Given the description of an element on the screen output the (x, y) to click on. 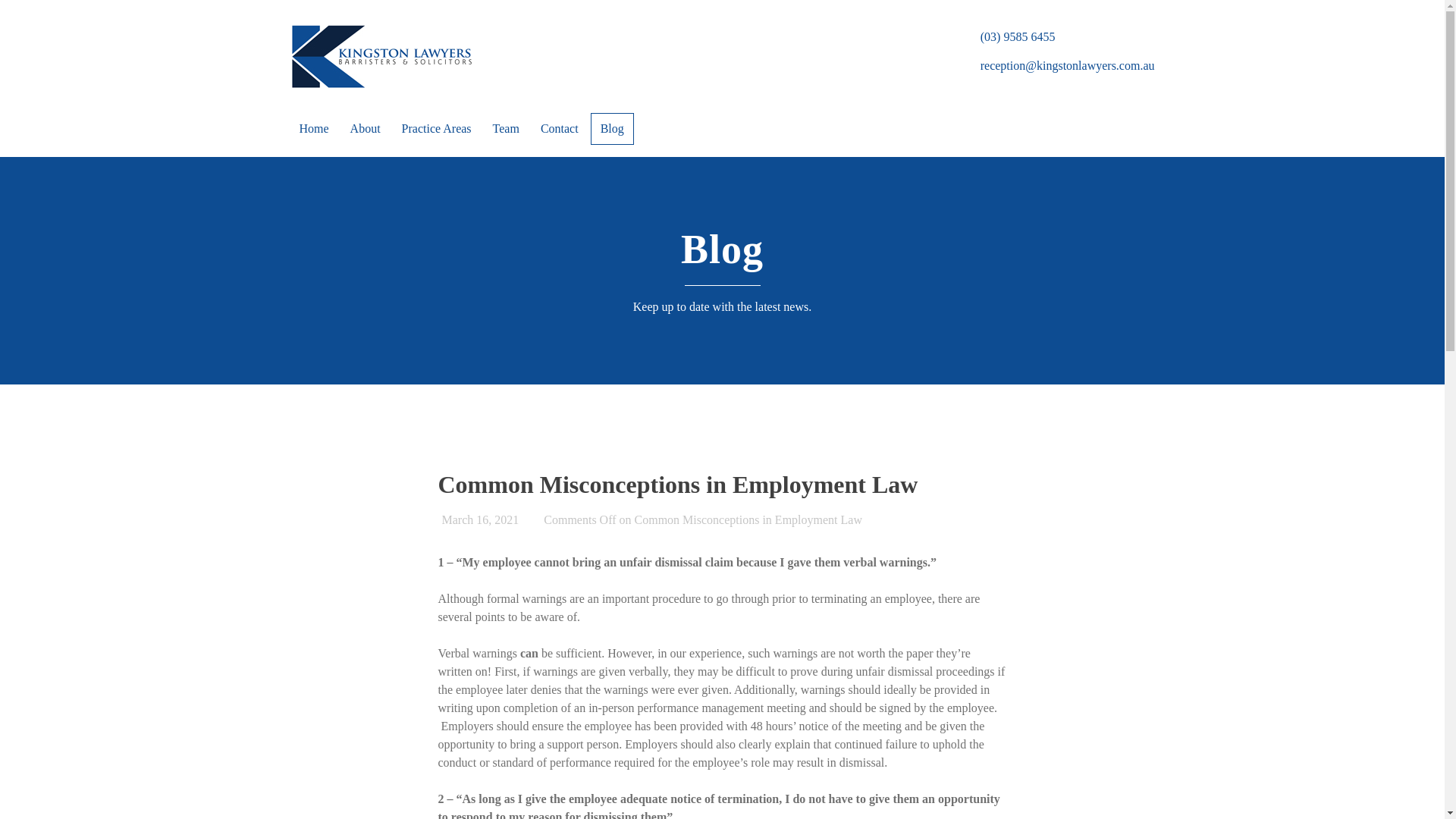
Contact Element type: text (559, 128)
Home Element type: text (313, 128)
reception@kingstonlawyers.com.au Element type: text (1067, 65)
About Element type: text (365, 128)
Practice Areas Element type: text (436, 128)
Blog Element type: text (611, 128)
Team Element type: text (505, 128)
